Given the description of an element on the screen output the (x, y) to click on. 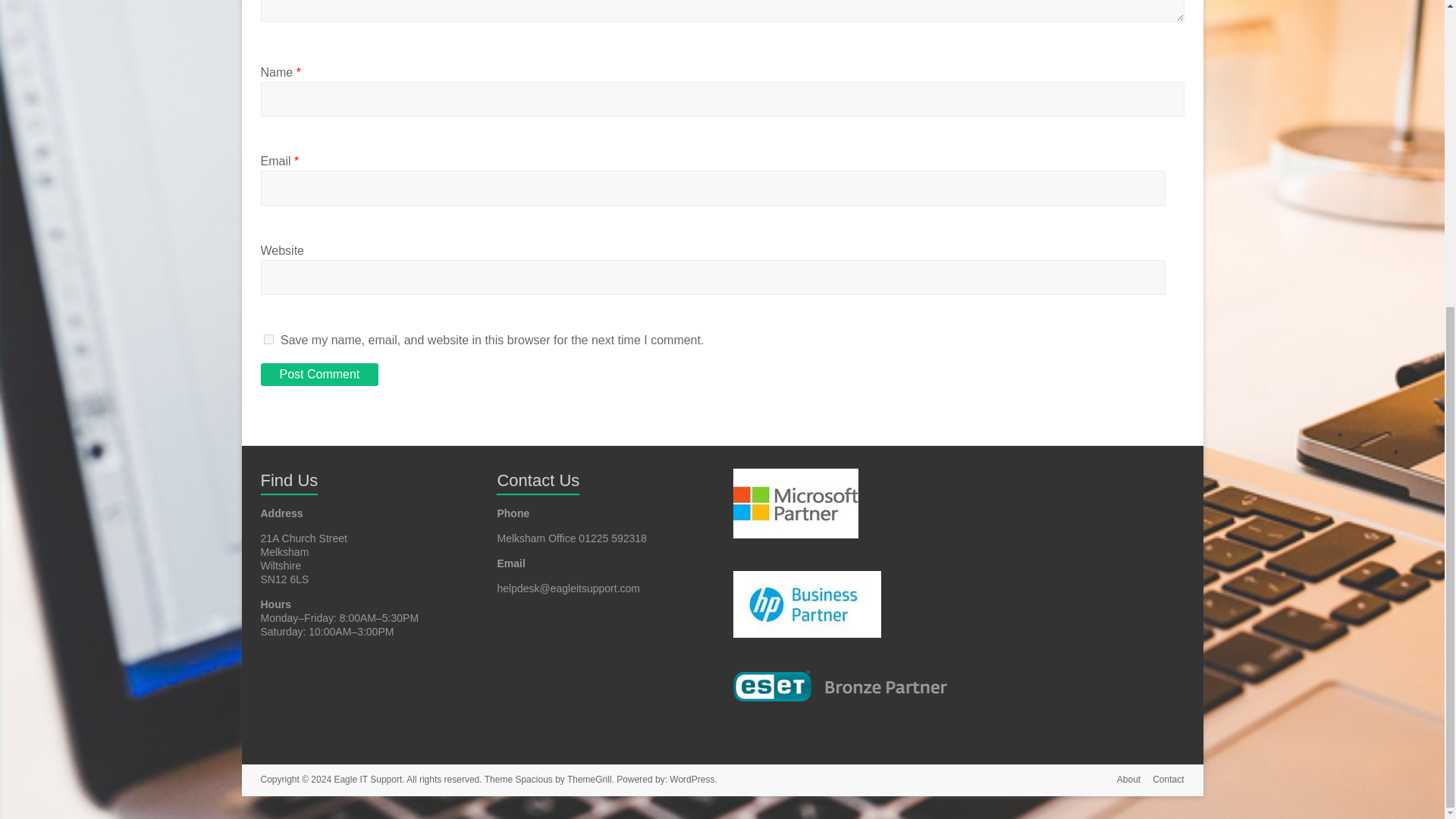
About (1122, 780)
yes (268, 338)
WordPress (691, 778)
WordPress (691, 778)
Post Comment (319, 374)
Eagle IT Support (367, 778)
Contact (1161, 780)
Eagle IT Support (367, 778)
Post Comment (319, 374)
Spacious (533, 778)
Spacious (533, 778)
